Given the description of an element on the screen output the (x, y) to click on. 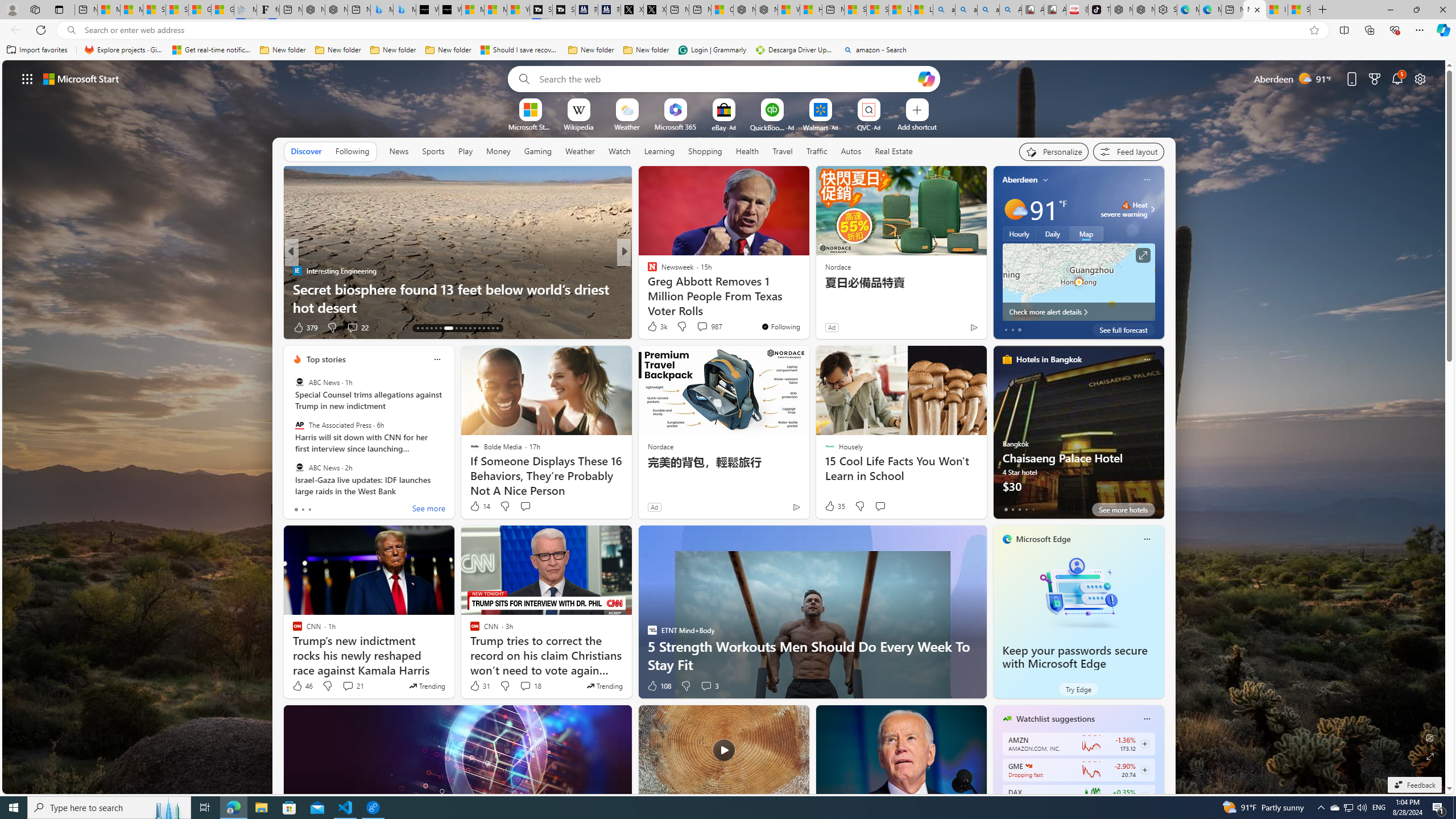
AutomationID: tab-20 (456, 328)
AutomationID: tab-21 (460, 328)
View comments 156 Comment (6, 327)
Hourly (1018, 233)
FOX News (647, 270)
View comments 18 Comment (530, 685)
Click to see more information (1142, 255)
